Given the description of an element on the screen output the (x, y) to click on. 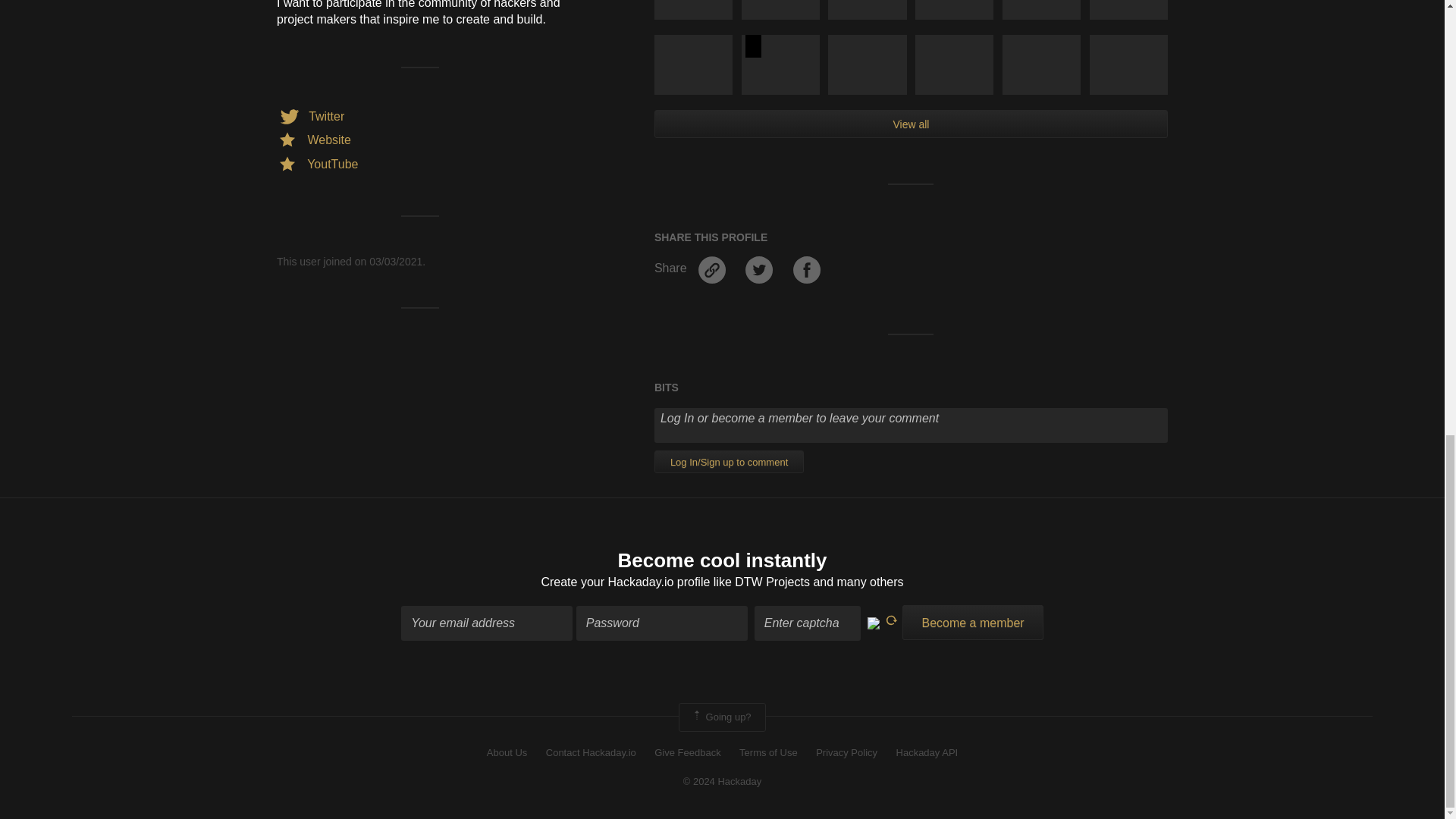
Website (313, 139)
YoutTube (317, 164)
Twitter (309, 115)
